Given the description of an element on the screen output the (x, y) to click on. 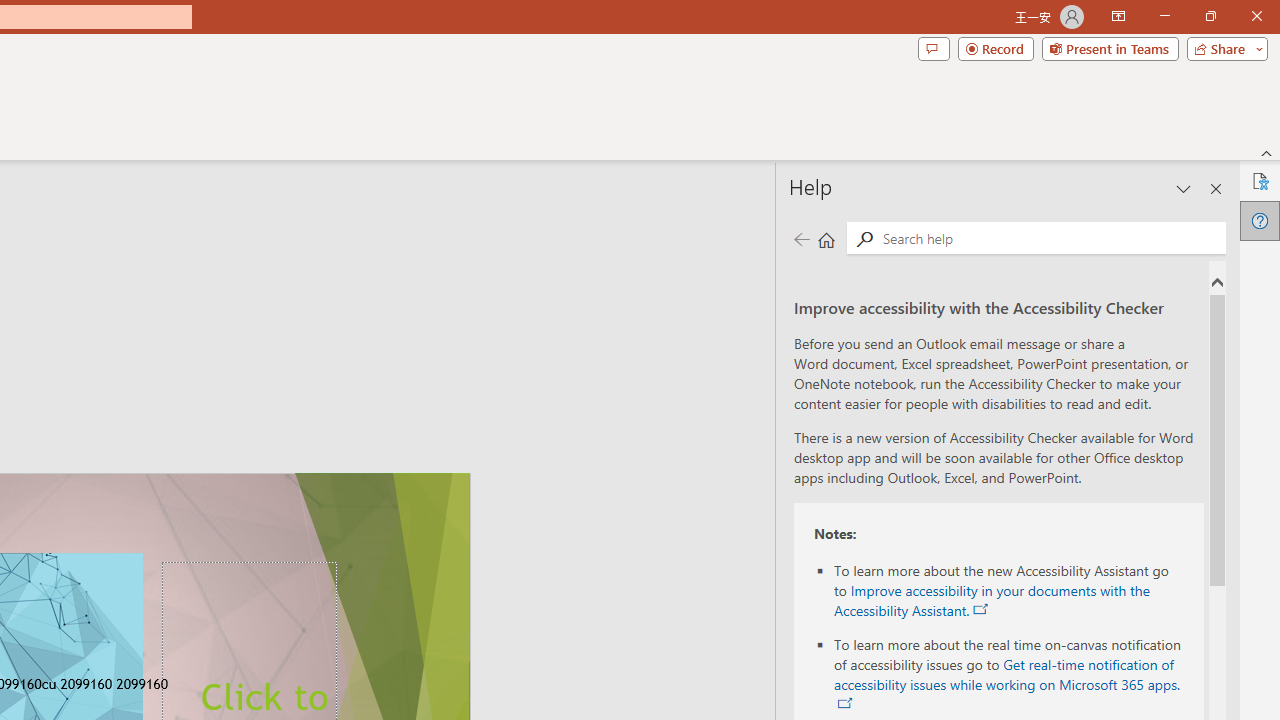
openinnewwindow (845, 704)
